Given the description of an element on the screen output the (x, y) to click on. 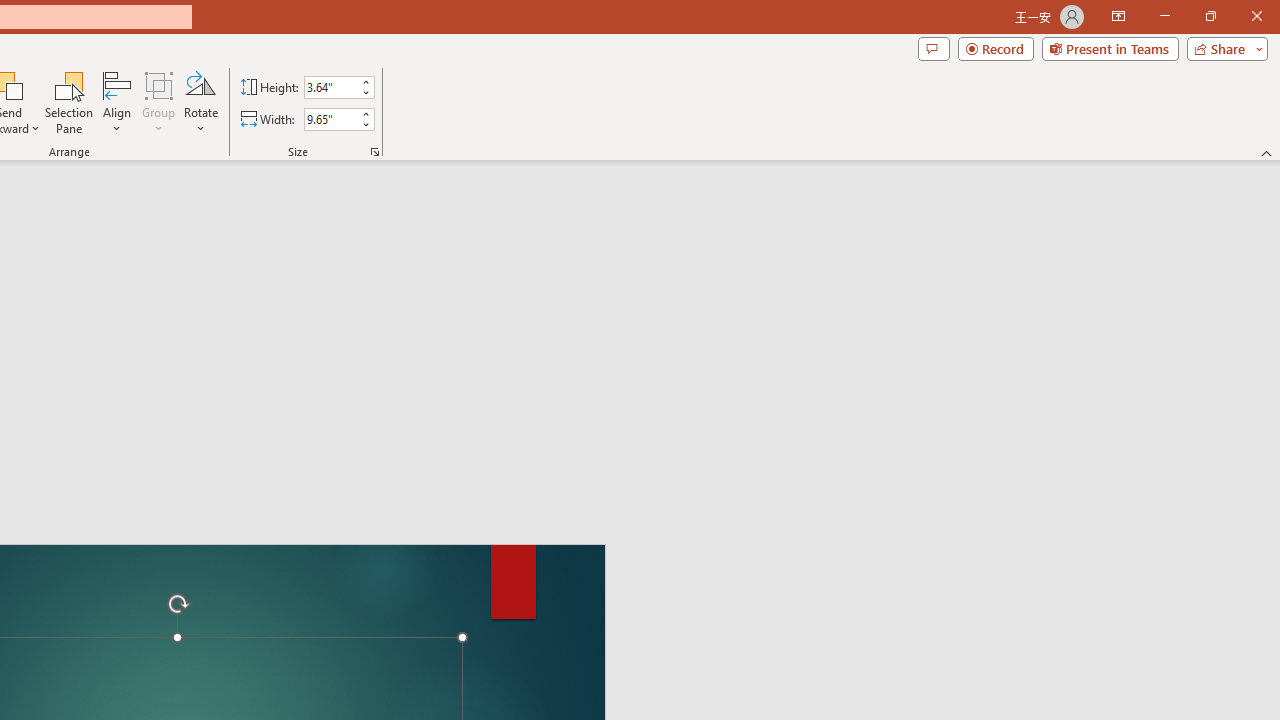
Shape Width (330, 119)
Rotate (200, 102)
Shape Height (330, 87)
